Given the description of an element on the screen output the (x, y) to click on. 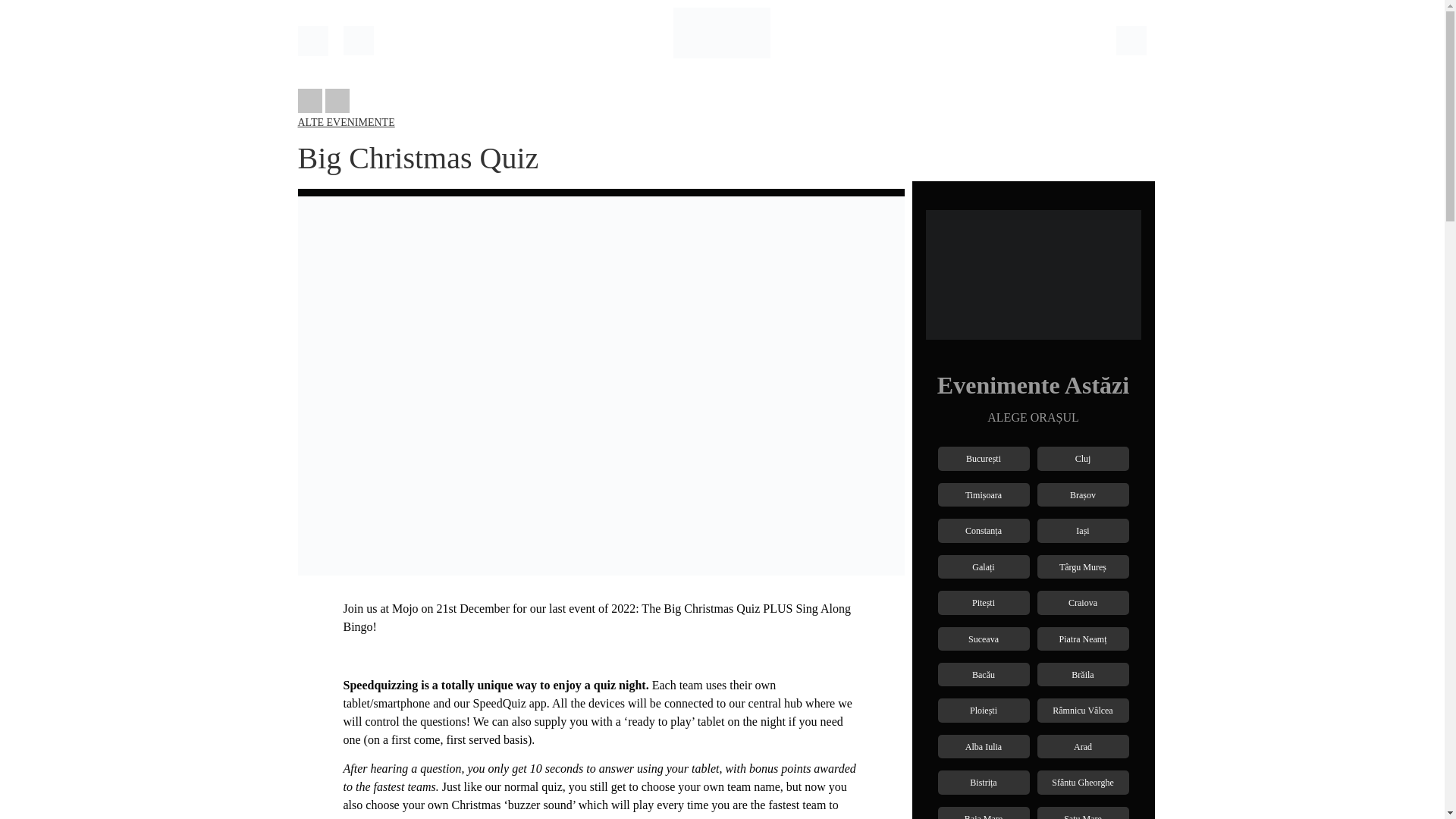
Arad (1083, 746)
Cluj (1082, 457)
Suceava (983, 638)
Craiova (1082, 602)
Baia Mare (983, 816)
Alba Iulia (983, 746)
Satu Mare (1083, 816)
